Given the description of an element on the screen output the (x, y) to click on. 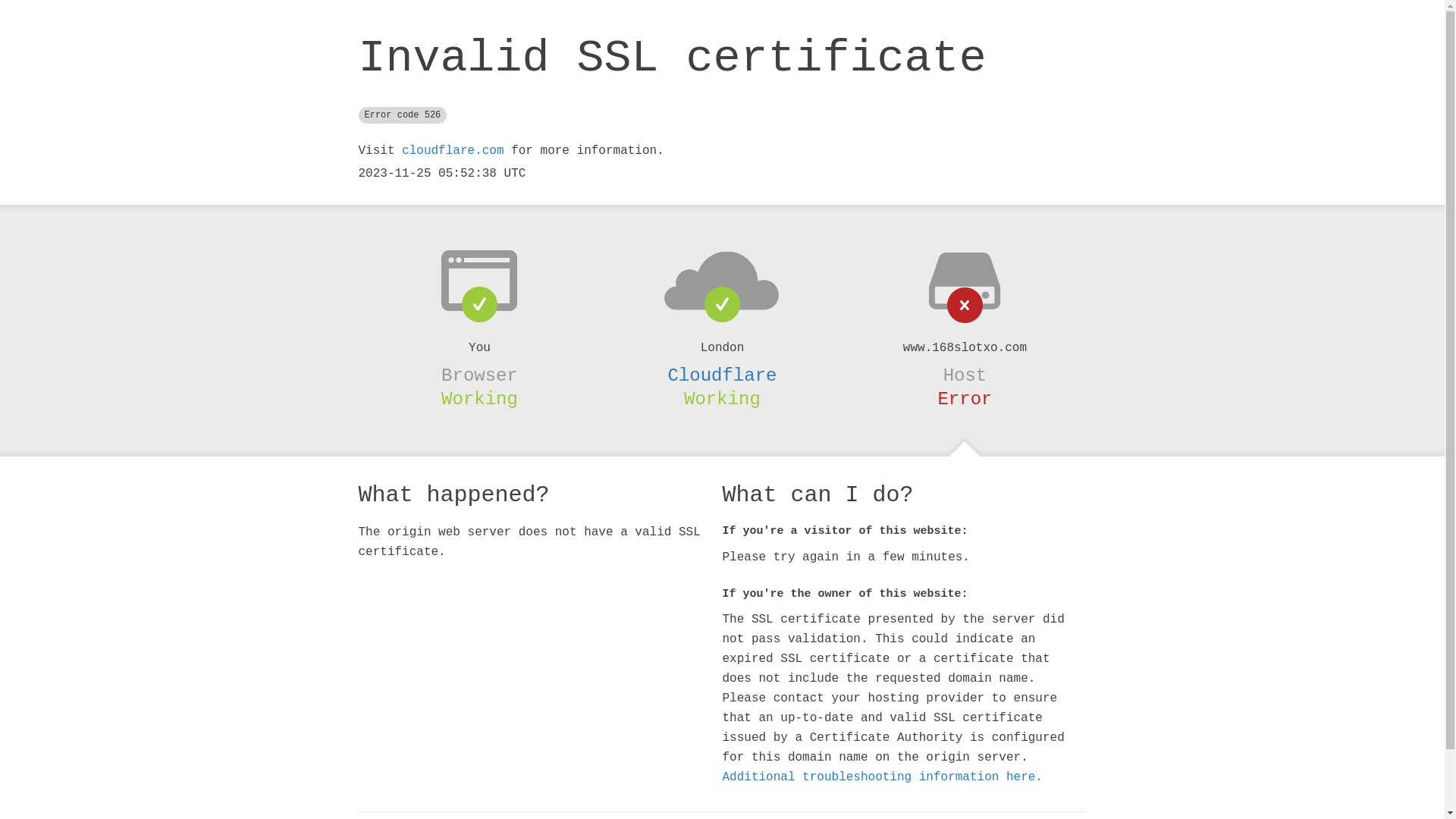
Additional troubleshooting information here. Element type: text (881, 777)
cloudflare.com Element type: text (452, 150)
Cloudflare Element type: text (721, 375)
